Given the description of an element on the screen output the (x, y) to click on. 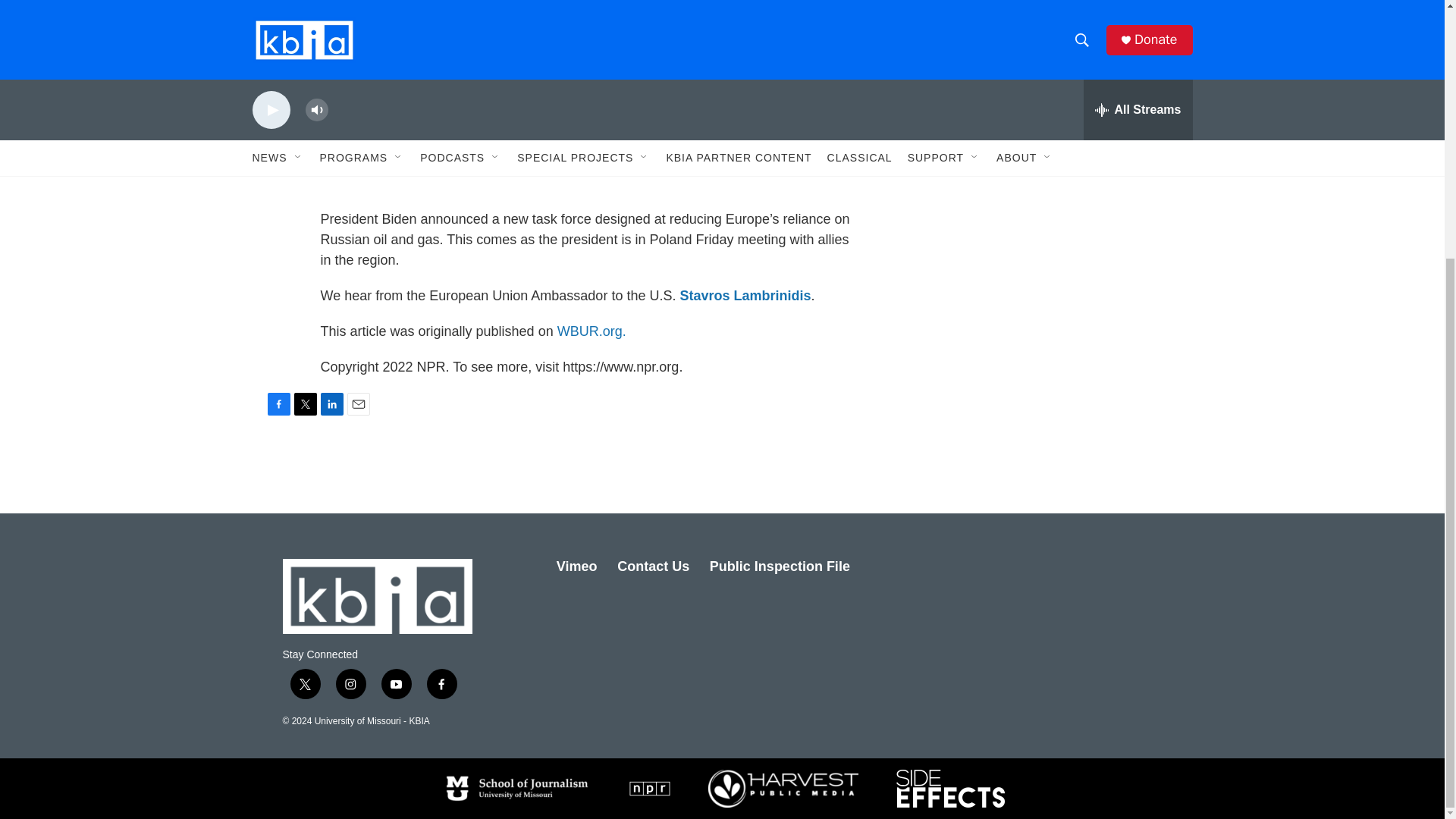
3rd party ad content (1062, 388)
3rd party ad content (1062, 167)
3rd party ad content (1062, 21)
